Given the description of an element on the screen output the (x, y) to click on. 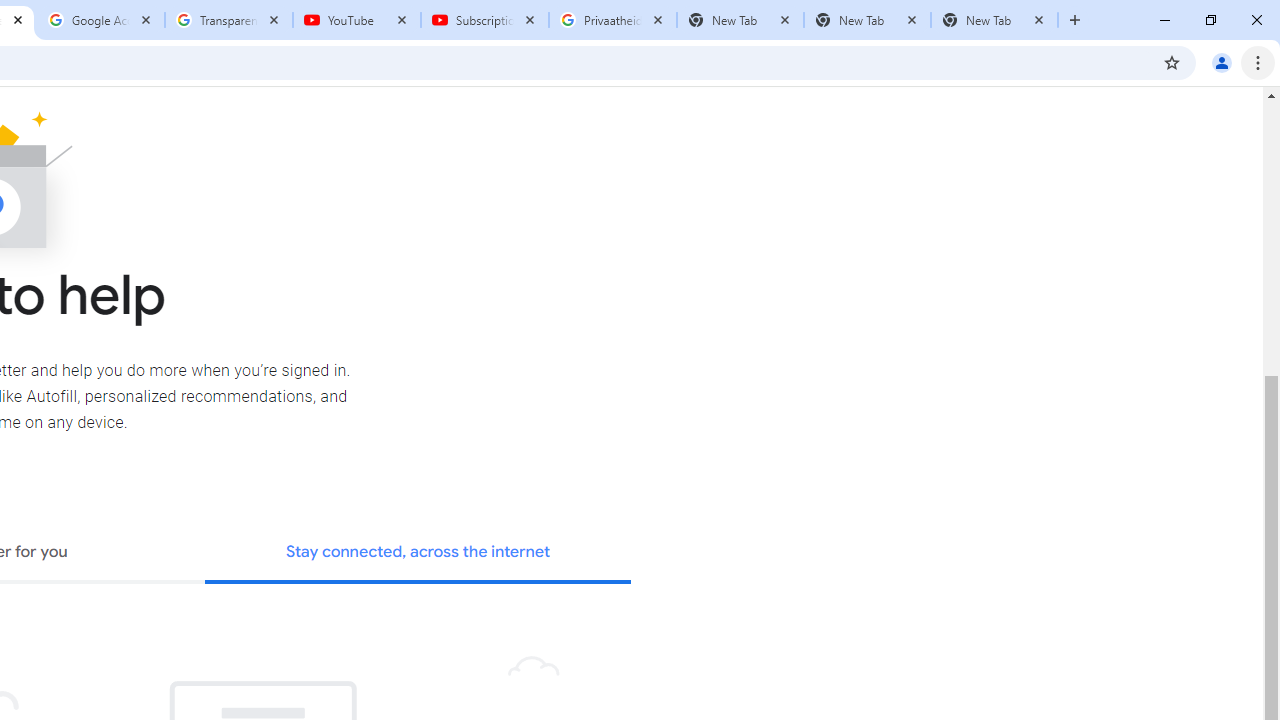
New Tab (866, 20)
Google Account (101, 20)
Stay connected, across the internet (417, 553)
YouTube (357, 20)
New Tab (994, 20)
Subscriptions - YouTube (485, 20)
